Given the description of an element on the screen output the (x, y) to click on. 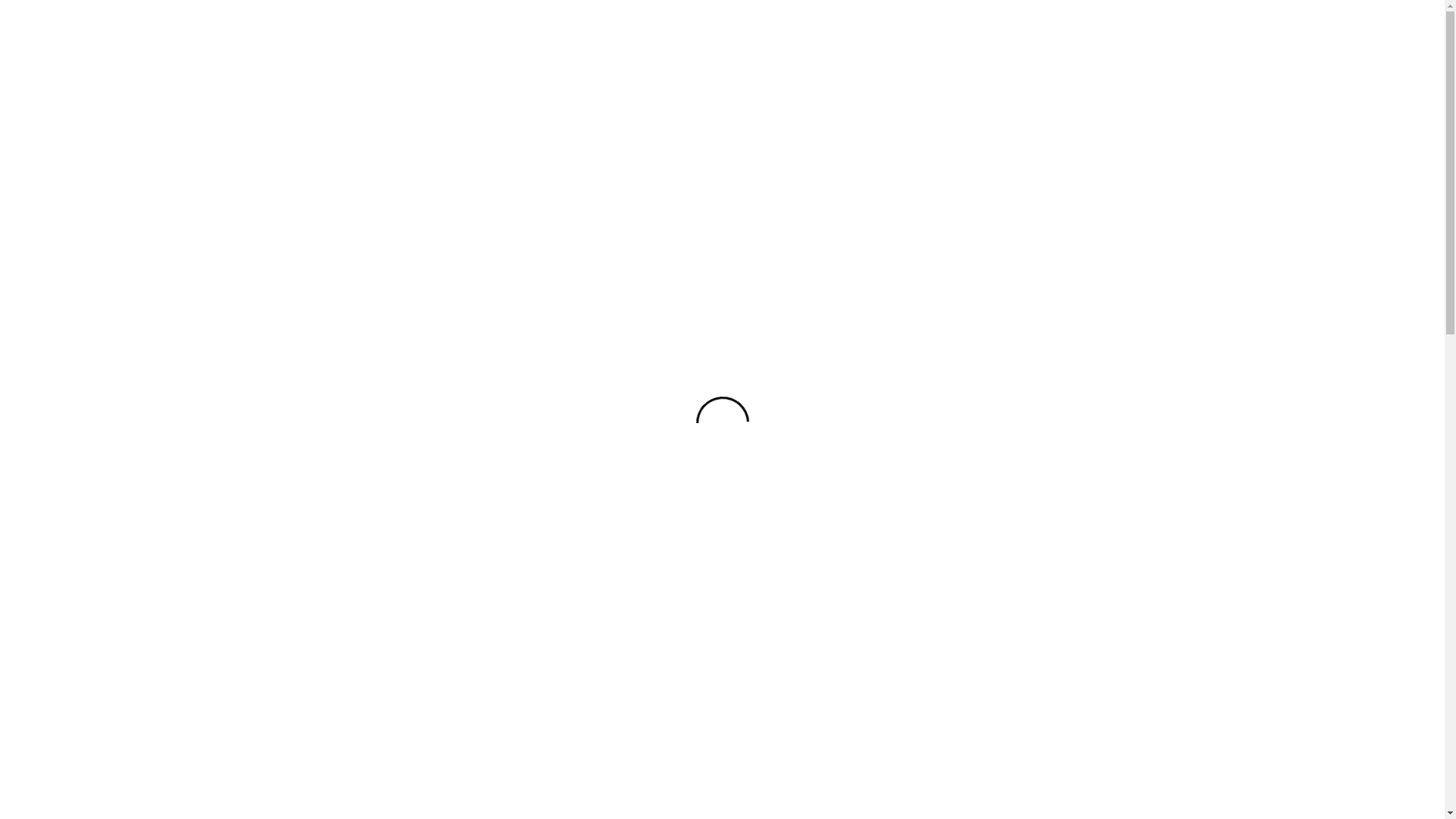
PRACTICAL INFO Element type: text (132, 272)
TICKETS Element type: text (132, 406)
LEVELS Element type: text (132, 306)
Search Element type: text (645, 37)
CONTACT Element type: text (132, 339)
TEACHERS Element type: text (132, 239)
Skip to content Element type: text (0, 0)
HOME Element type: text (253, 35)
PRACTICAL INFO Element type: text (320, 35)
HOME Element type: text (132, 172)
ABOUT Element type: text (132, 205)
ACROYOGA SUMMER FESTIVAL BELGIUM Element type: text (118, 77)
GALLERY Element type: text (132, 372)
